Given the description of an element on the screen output the (x, y) to click on. 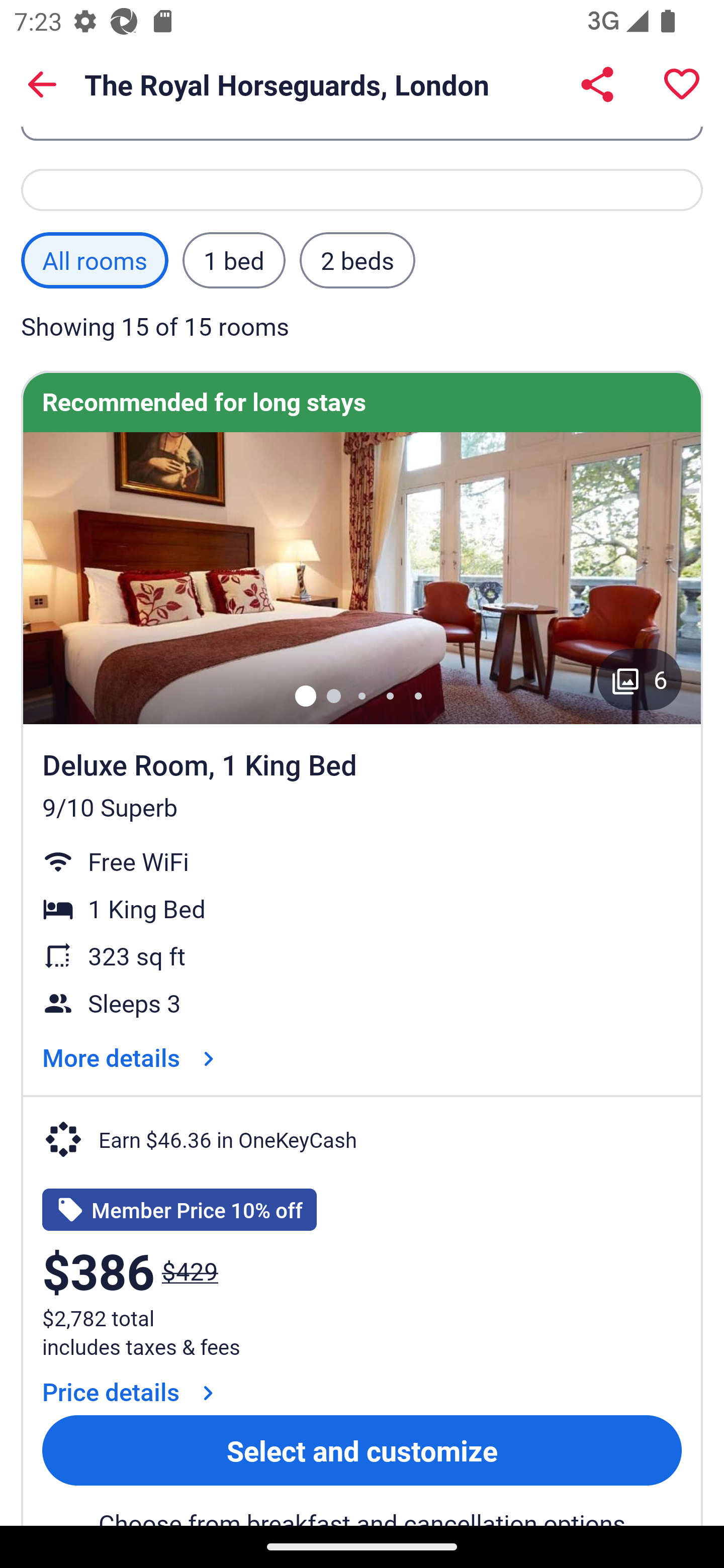
Back (42, 84)
Save property to a trip (681, 84)
Share The Royal Horseguards, London (597, 84)
All rooms (94, 259)
1 bed (233, 259)
2 beds (357, 259)
Gallery button with 6 images (639, 678)
$429 The price was $429 (189, 1271)
